Given the description of an element on the screen output the (x, y) to click on. 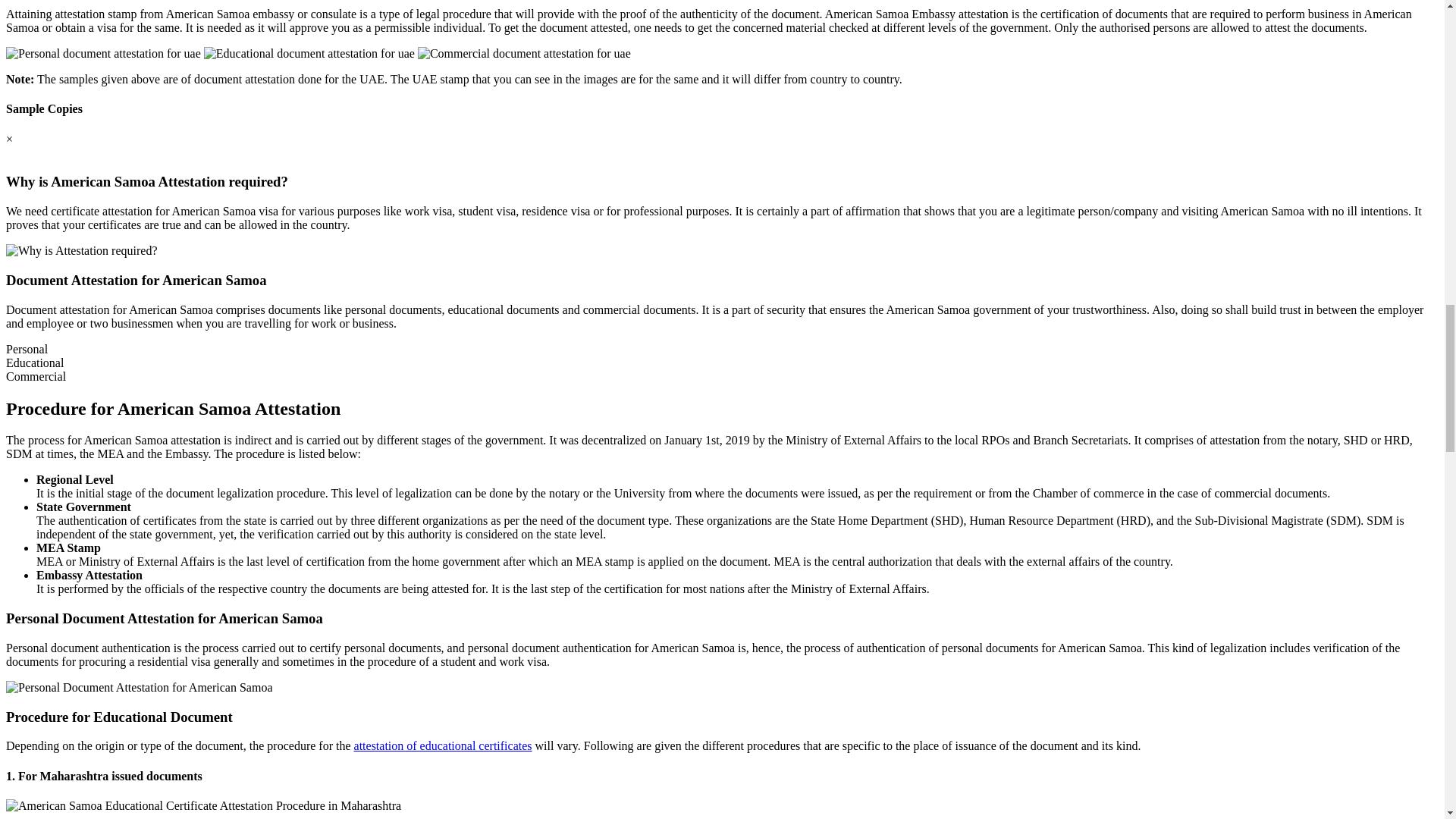
Personal Document Attestation for UAE (102, 53)
Commercial Document Attestation for UAE (523, 53)
Personal Document Attestation for  American Samoa (138, 687)
Educational Certificate Attestation (308, 53)
Why is American Samoa attestation required? (81, 250)
